Given the description of an element on the screen output the (x, y) to click on. 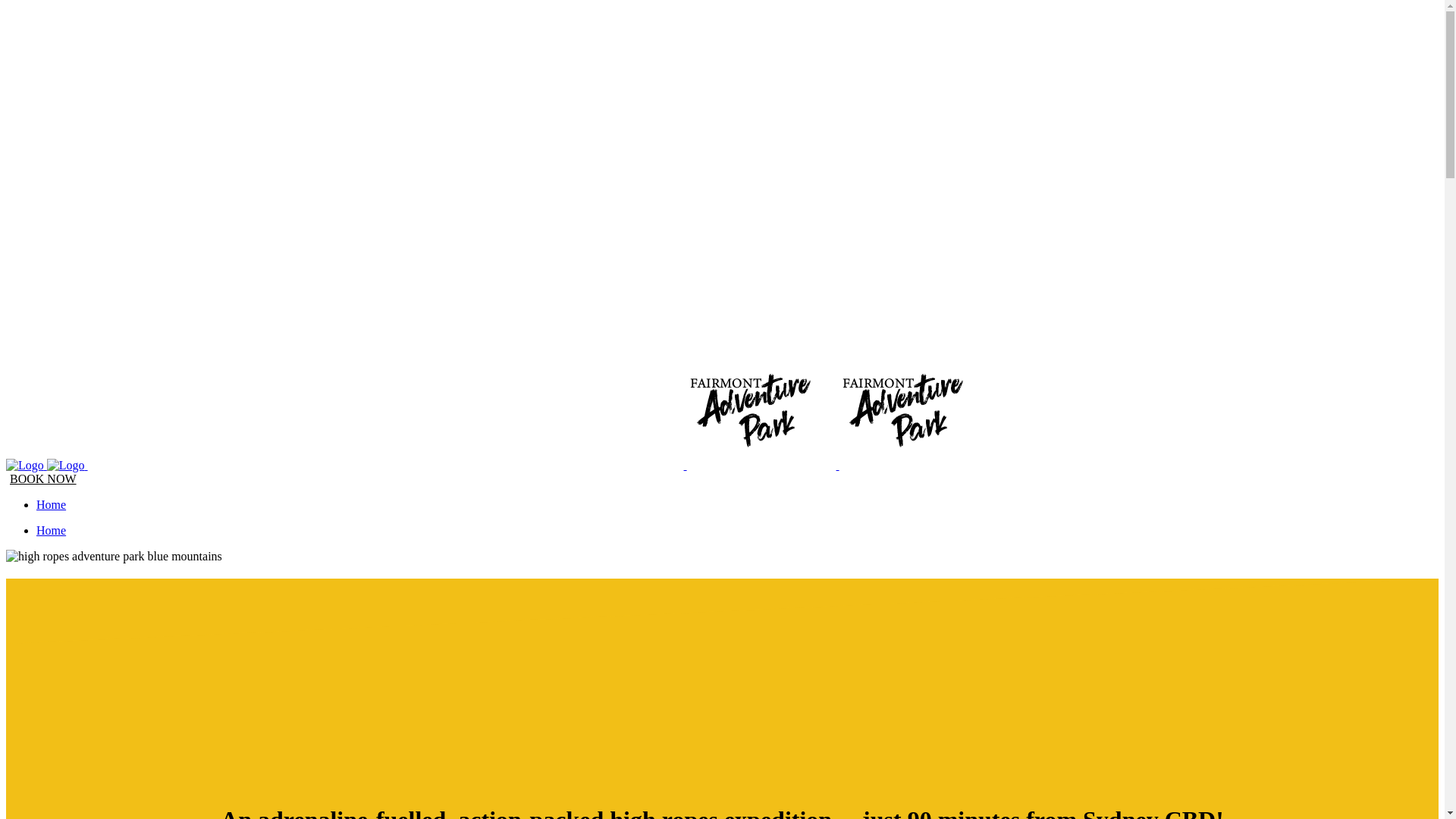
Home Element type: text (50, 530)
BOOK NOW Element type: text (42, 478)
blue_mountains_fun_fap Element type: hover (114, 556)
Home Element type: text (50, 504)
